Given the description of an element on the screen output the (x, y) to click on. 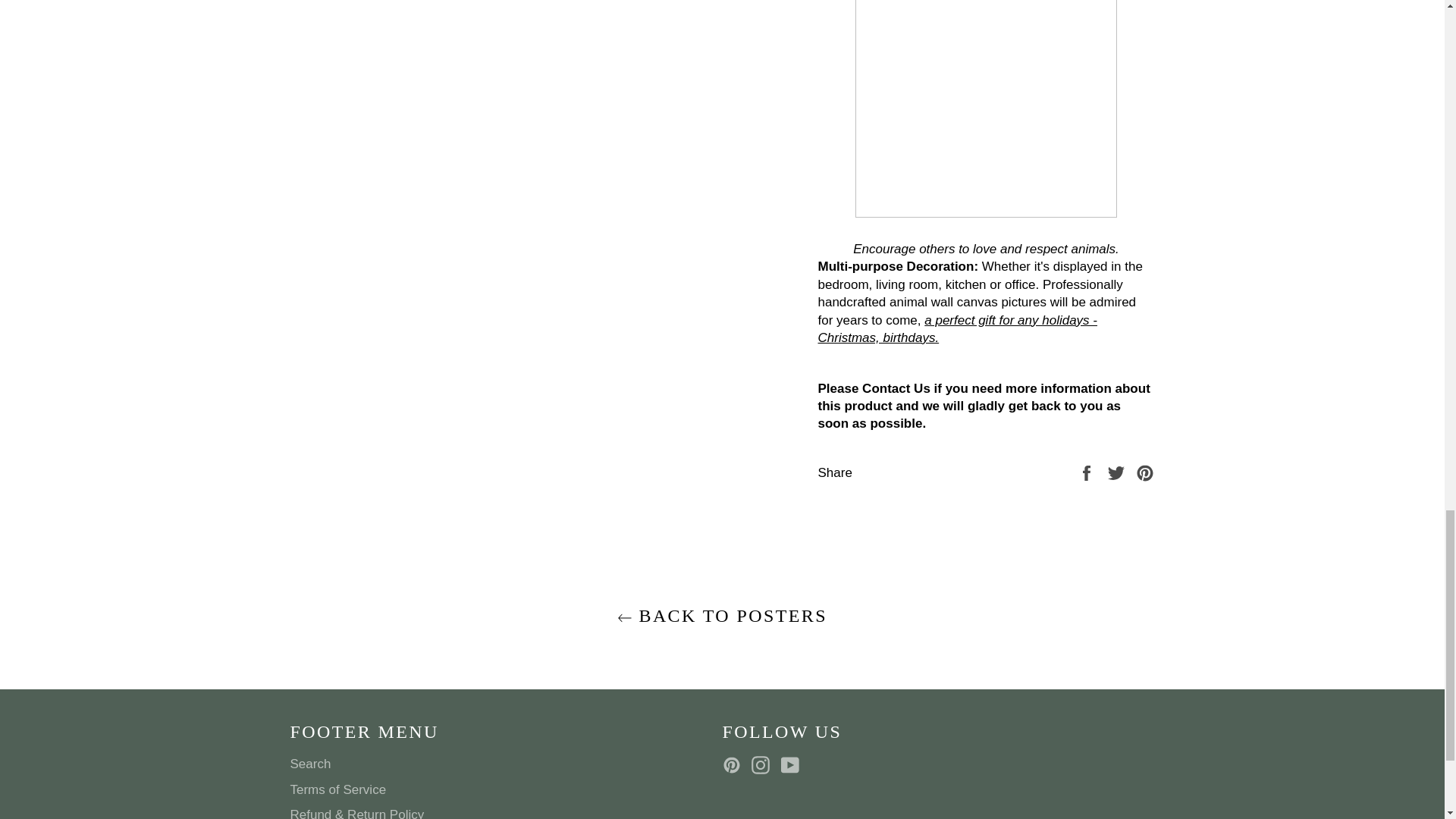
Pin on Pinterest (1144, 472)
Basic Outline Interiors on YouTube (793, 764)
Basic Outline Interiors on Instagram (764, 764)
Basic Outline Interiors on Pinterest (735, 764)
Share on Facebook (1088, 472)
Tweet on Twitter (1117, 472)
